Given the description of an element on the screen output the (x, y) to click on. 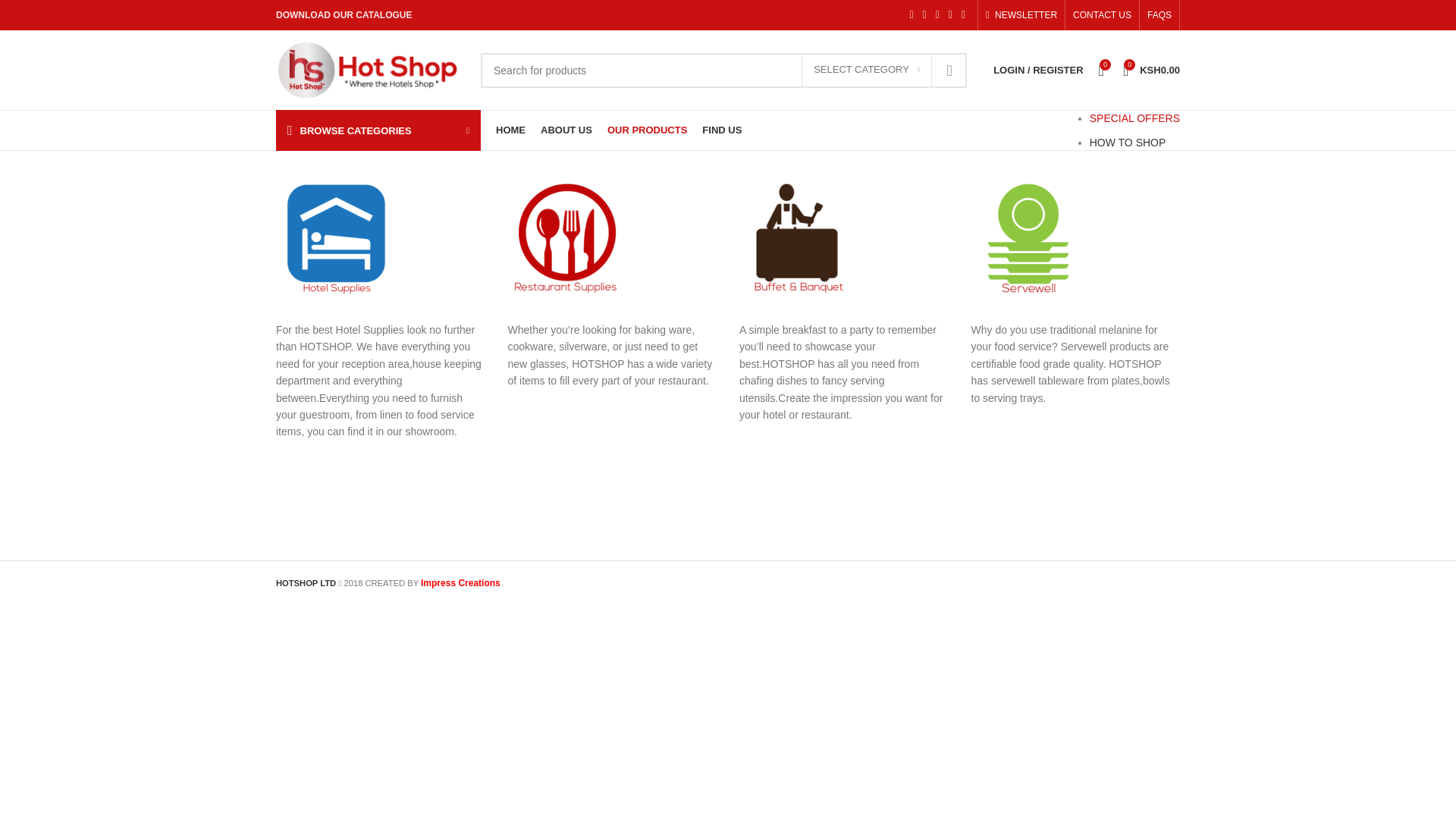
NEWSLETTER (1021, 15)
SELECT CATEGORY (866, 70)
Search for products (723, 70)
DOWNLOAD OUR CATALOGUE (344, 14)
My account (1037, 69)
Shopping cart (1151, 69)
SELECT CATEGORY (866, 70)
CONTACT US (1102, 15)
